Given the description of an element on the screen output the (x, y) to click on. 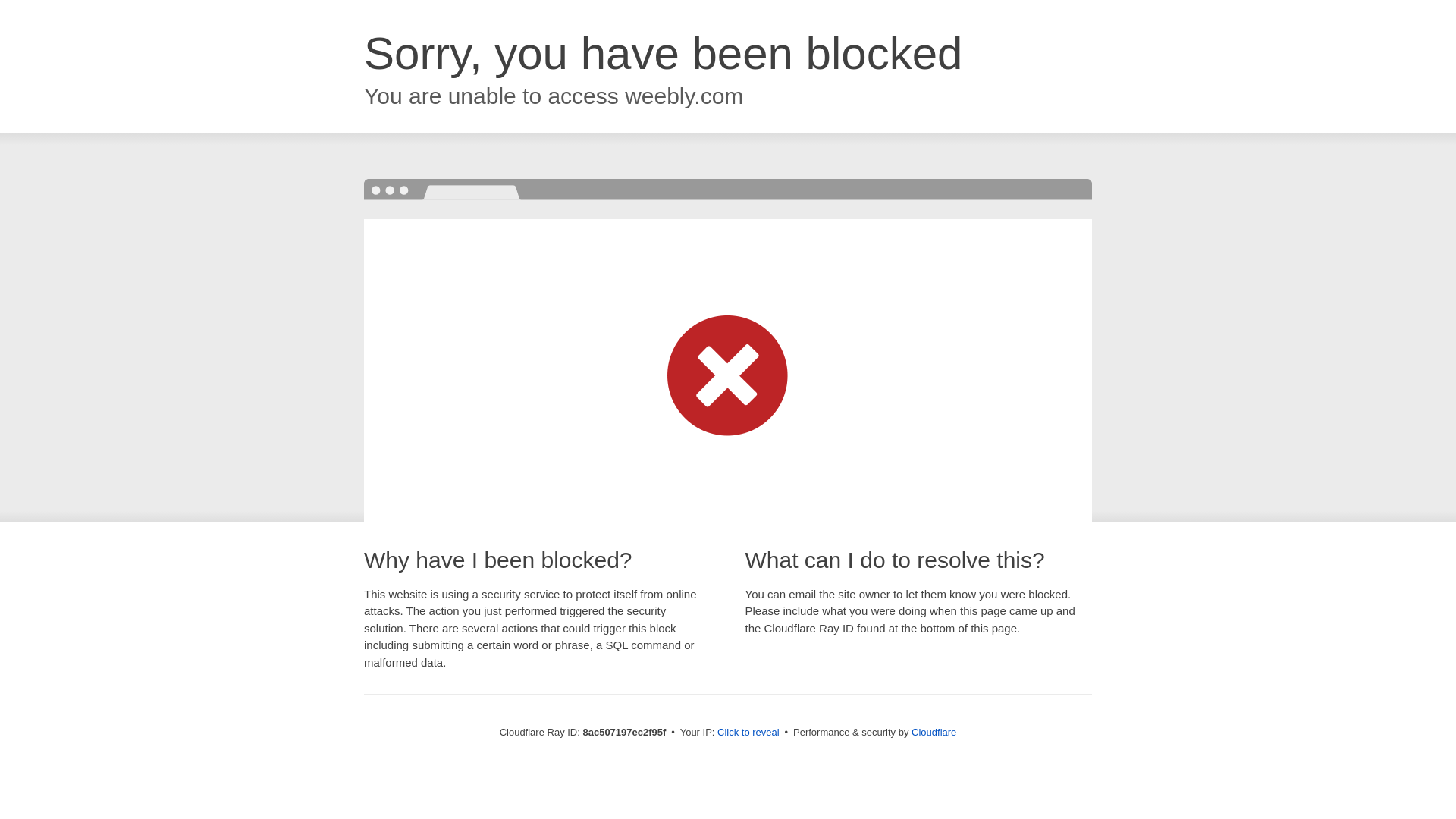
Cloudflare (933, 731)
Click to reveal (747, 732)
